Given the description of an element on the screen output the (x, y) to click on. 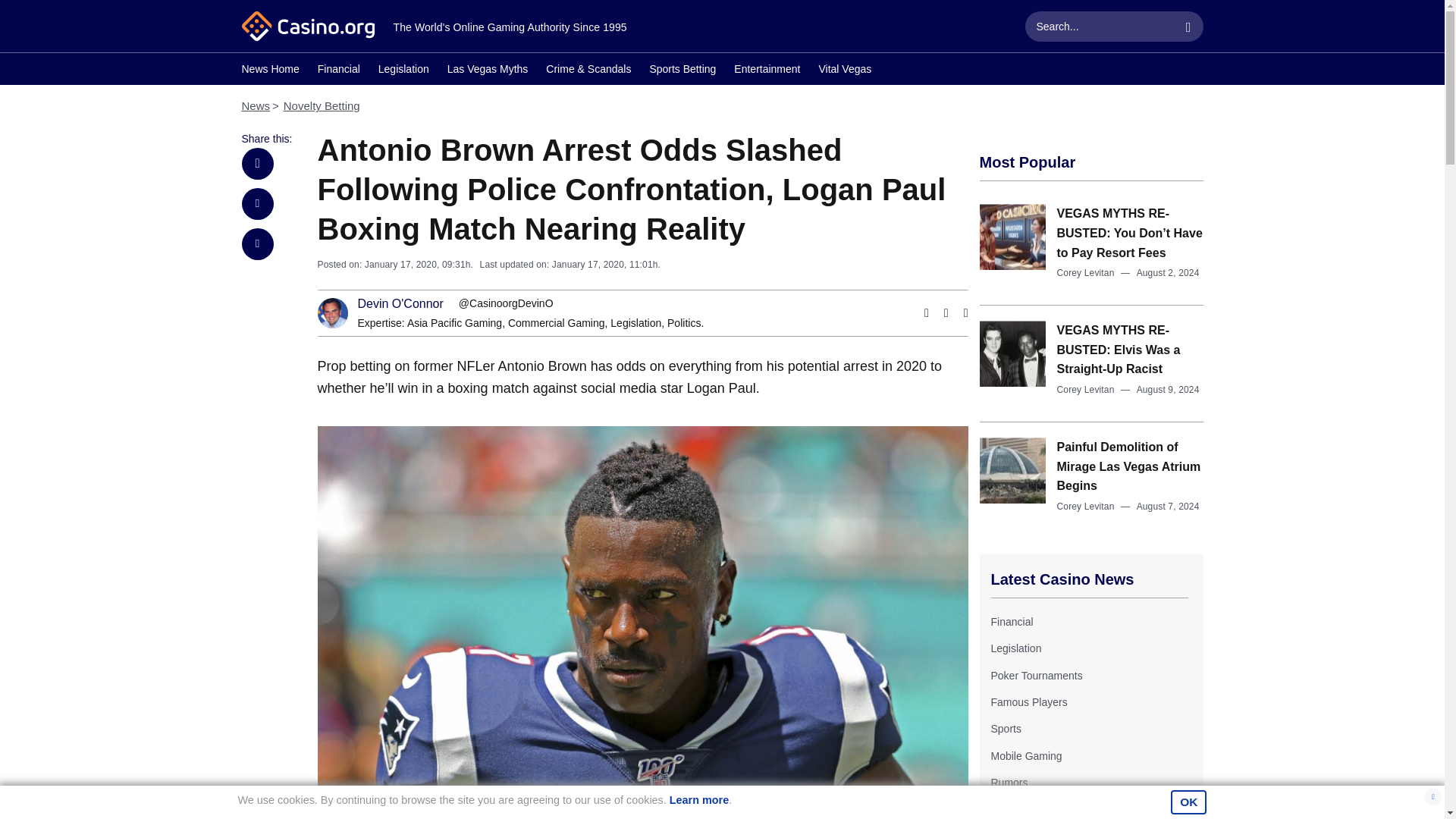
iGaming (1009, 809)
VEGAS MYTHS RE-BUSTED: Elvis Was a Straight-Up Racist (1118, 349)
Financial (1011, 621)
Vital Vegas (845, 70)
Rumors (1008, 782)
Financial (338, 70)
Poker Tournaments (1035, 675)
Legislation (635, 322)
Sports Betting (682, 70)
Asia Pacific Gaming (454, 322)
